Given the description of an element on the screen output the (x, y) to click on. 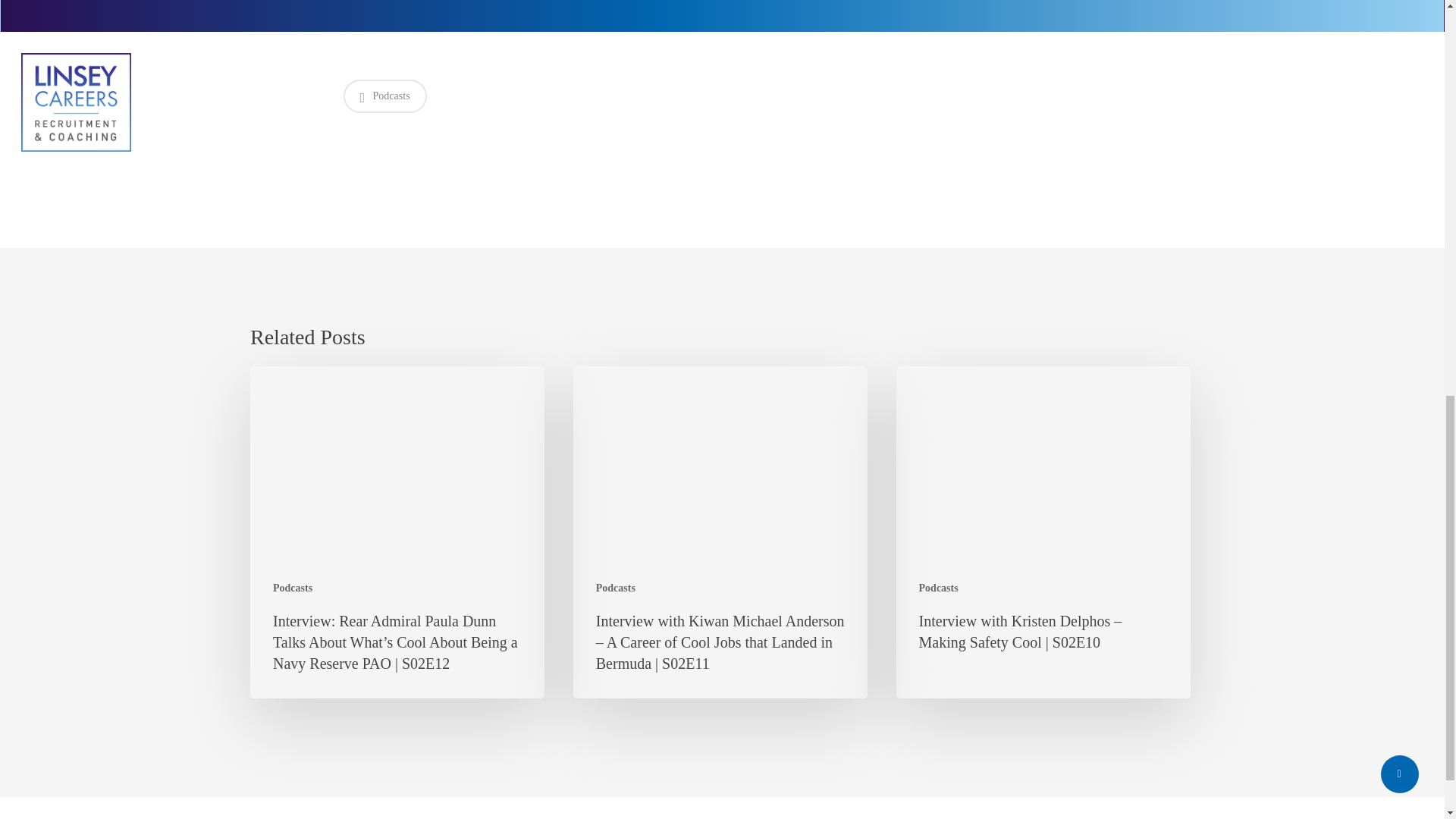
Podcasts (293, 587)
Podcasts (614, 587)
Transformation (382, 9)
Podcasts (384, 96)
Podcasts (938, 587)
